Given the description of an element on the screen output the (x, y) to click on. 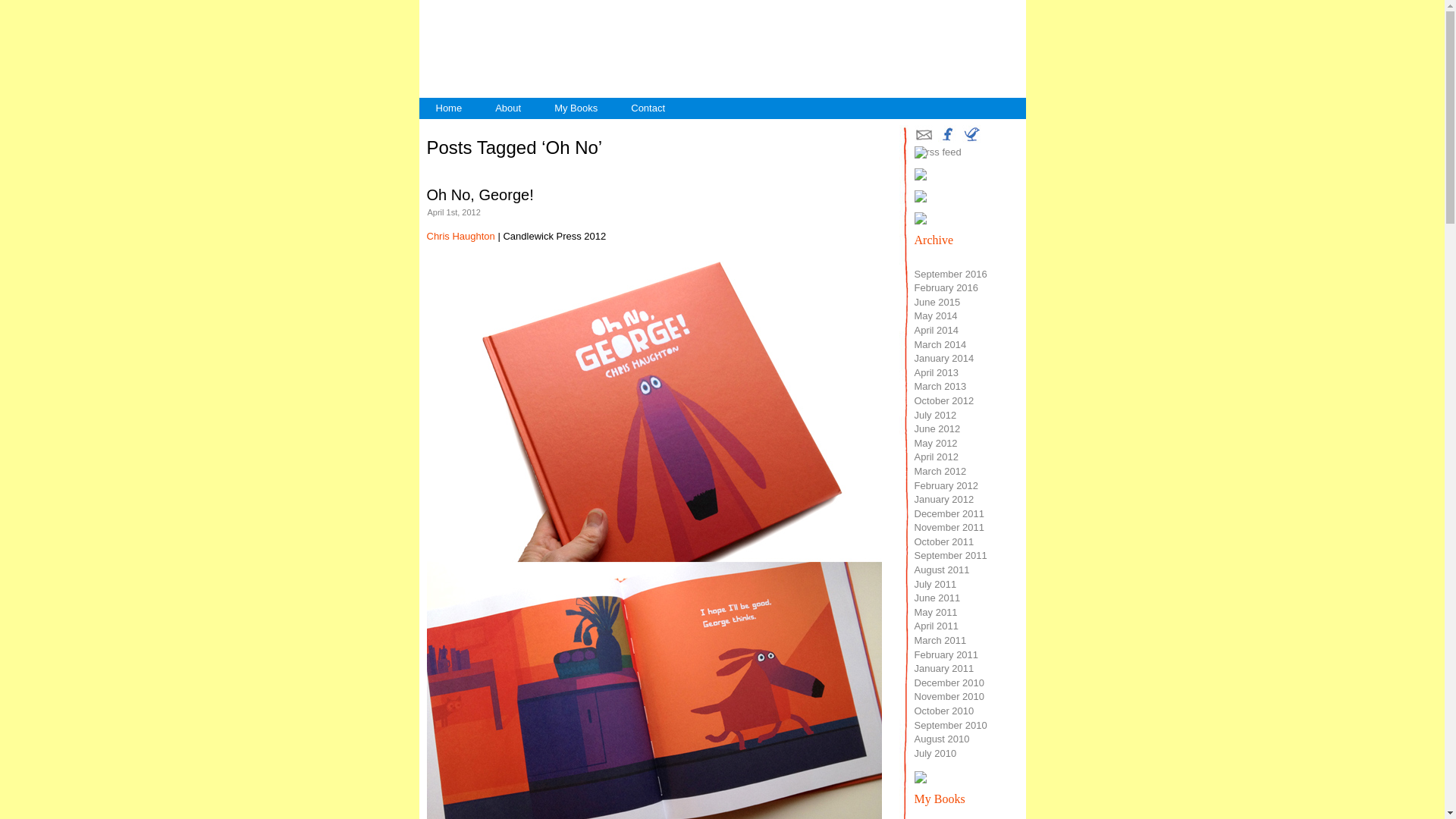
Contact Element type: text (647, 108)
March 2013 Element type: text (940, 386)
February 2012 Element type: text (946, 484)
April 2014 Element type: text (936, 329)
Home Element type: text (448, 108)
May 2012 Element type: text (935, 442)
June 2015 Element type: text (937, 301)
Oh No, George! Element type: text (479, 194)
About Element type: text (507, 108)
December 2010 Element type: text (949, 682)
July 2012 Element type: text (935, 414)
November 2010 Element type: text (949, 696)
February 2011 Element type: text (946, 654)
July 2010 Element type: text (935, 753)
September 2010 Element type: text (950, 725)
November 2011 Element type: text (949, 527)
My Books Element type: text (575, 108)
April 2013 Element type: text (936, 372)
September 2016 Element type: text (950, 273)
October 2012 Element type: text (944, 400)
July 2011 Element type: text (935, 583)
January 2012 Element type: text (944, 499)
October 2010 Element type: text (944, 710)
April 2011 Element type: text (936, 625)
October 2011 Element type: text (944, 541)
March 2011 Element type: text (940, 640)
January 2011 Element type: text (944, 668)
August 2010 Element type: text (941, 738)
March 2012 Element type: text (940, 470)
September 2011 Element type: text (950, 555)
January 2014 Element type: text (944, 358)
March 2014 Element type: text (940, 344)
December 2011 Element type: text (949, 513)
June 2011 Element type: text (937, 597)
February 2016 Element type: text (946, 287)
August 2011 Element type: text (941, 569)
June 2012 Element type: text (937, 428)
April 2012 Element type: text (936, 456)
May 2011 Element type: text (935, 612)
May 2014 Element type: text (935, 315)
